Given the description of an element on the screen output the (x, y) to click on. 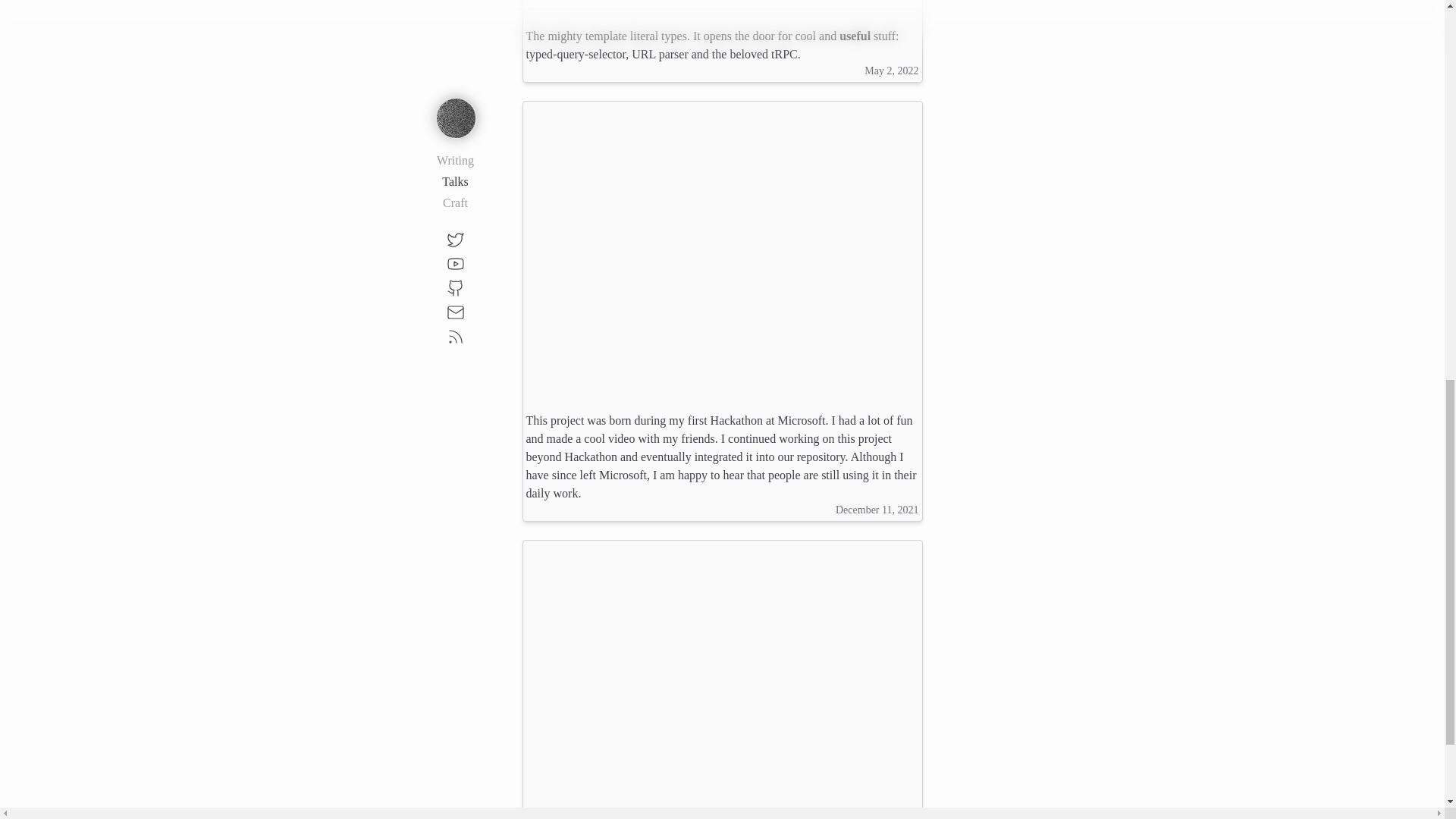
tRPC (784, 53)
typed-query-selector (575, 53)
Template Literal Types (721, 7)
Advanced TypeScript (721, 251)
URL parser (659, 53)
E2E testing with Playwright (721, 680)
